Given the description of an element on the screen output the (x, y) to click on. 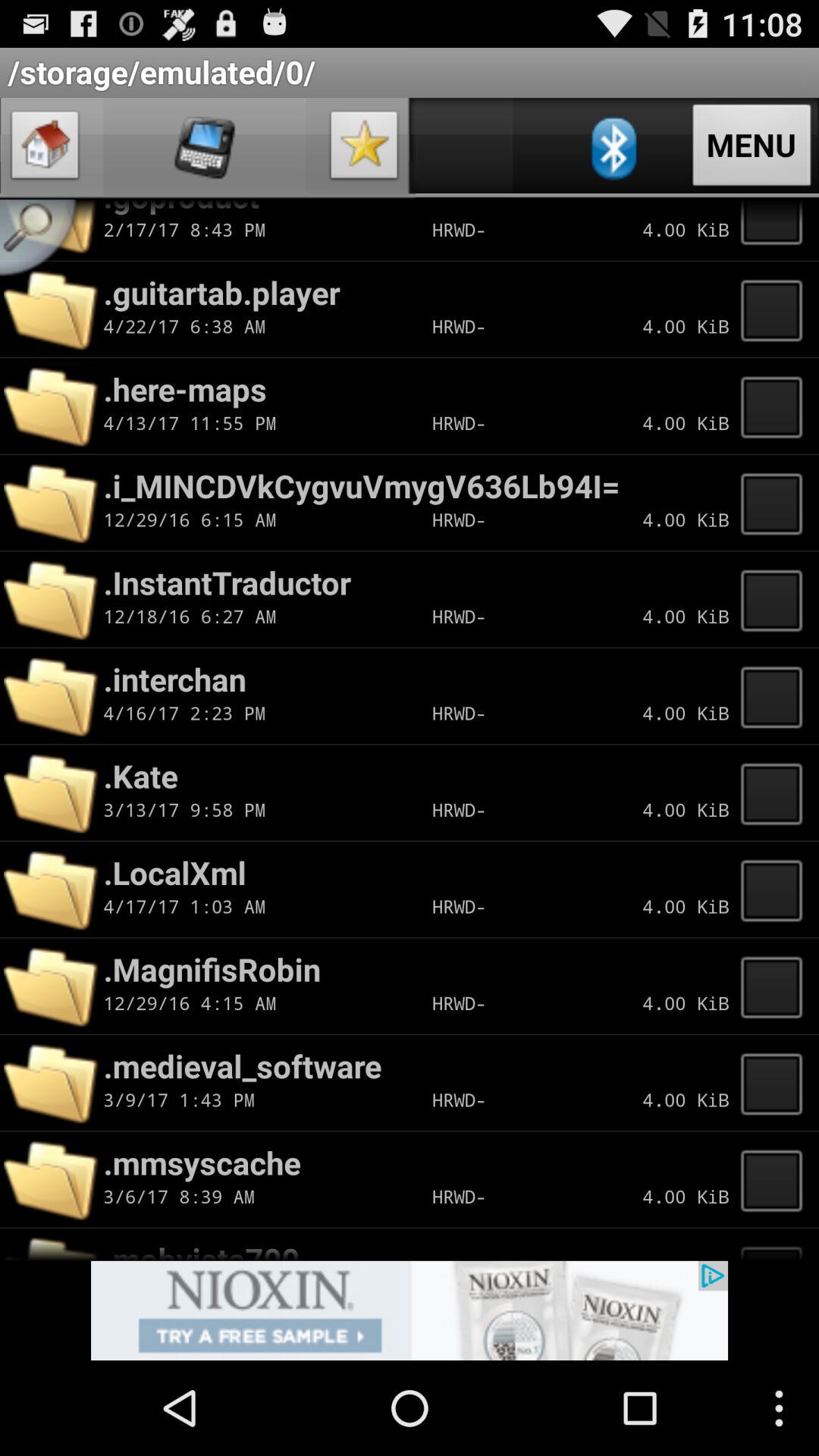
click on the advertisement (409, 1310)
